Given the description of an element on the screen output the (x, y) to click on. 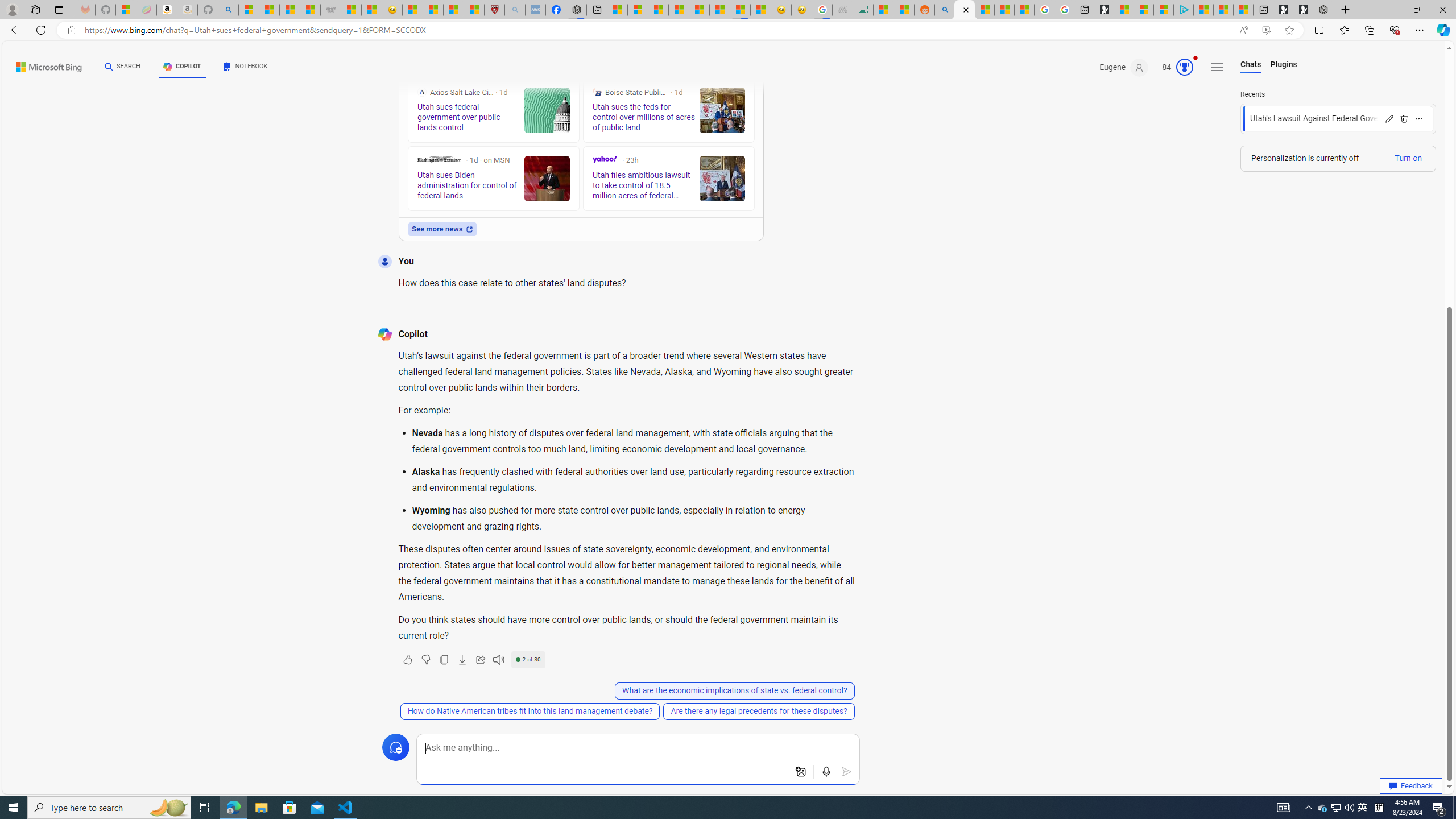
Are there any legal precedents for these disputes? (758, 711)
Back to Bing search (41, 64)
Utah sues federal government - Search (944, 9)
Enhance video (1266, 29)
